Given the description of an element on the screen output the (x, y) to click on. 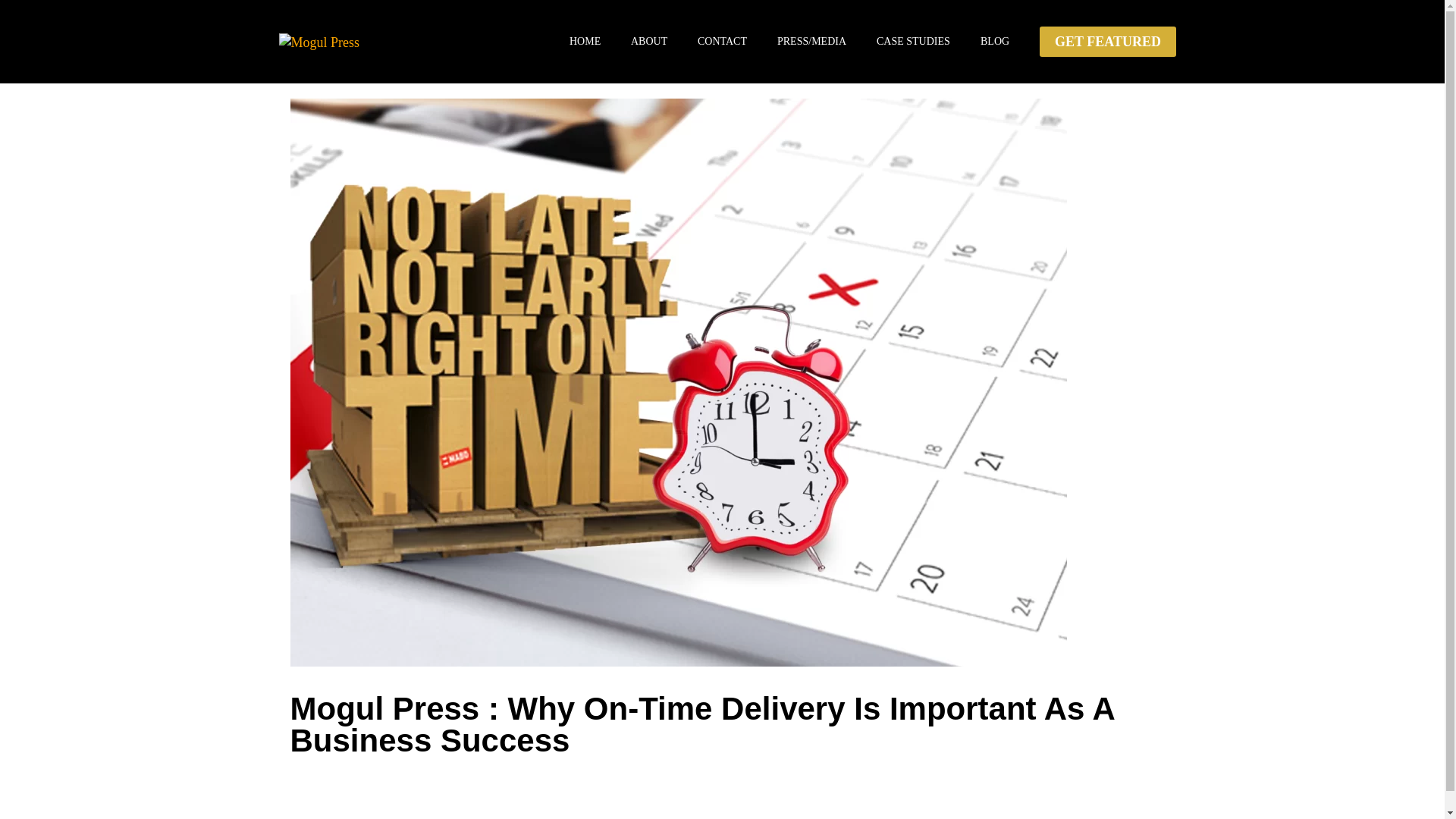
GET FEATURED (1107, 41)
Mogul Press (354, 41)
CASE STUDIES (913, 41)
